Given the description of an element on the screen output the (x, y) to click on. 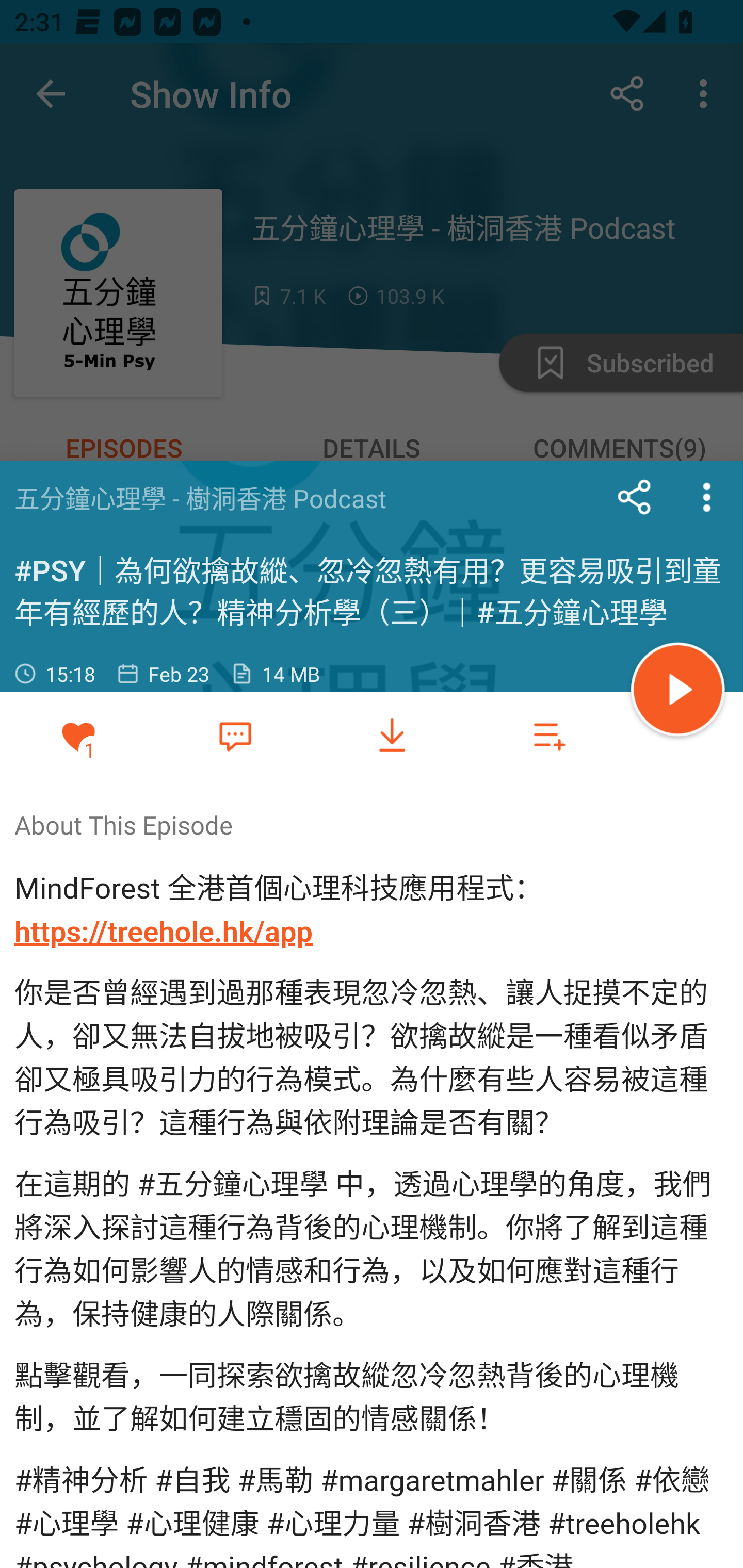
Share (634, 496)
more options (706, 496)
Play (677, 692)
Favorite (234, 735)
Remove from Favorites (78, 735)
Download (391, 735)
Add to playlist (548, 735)
https://treehole.hk/app (164, 932)
